Given the description of an element on the screen output the (x, y) to click on. 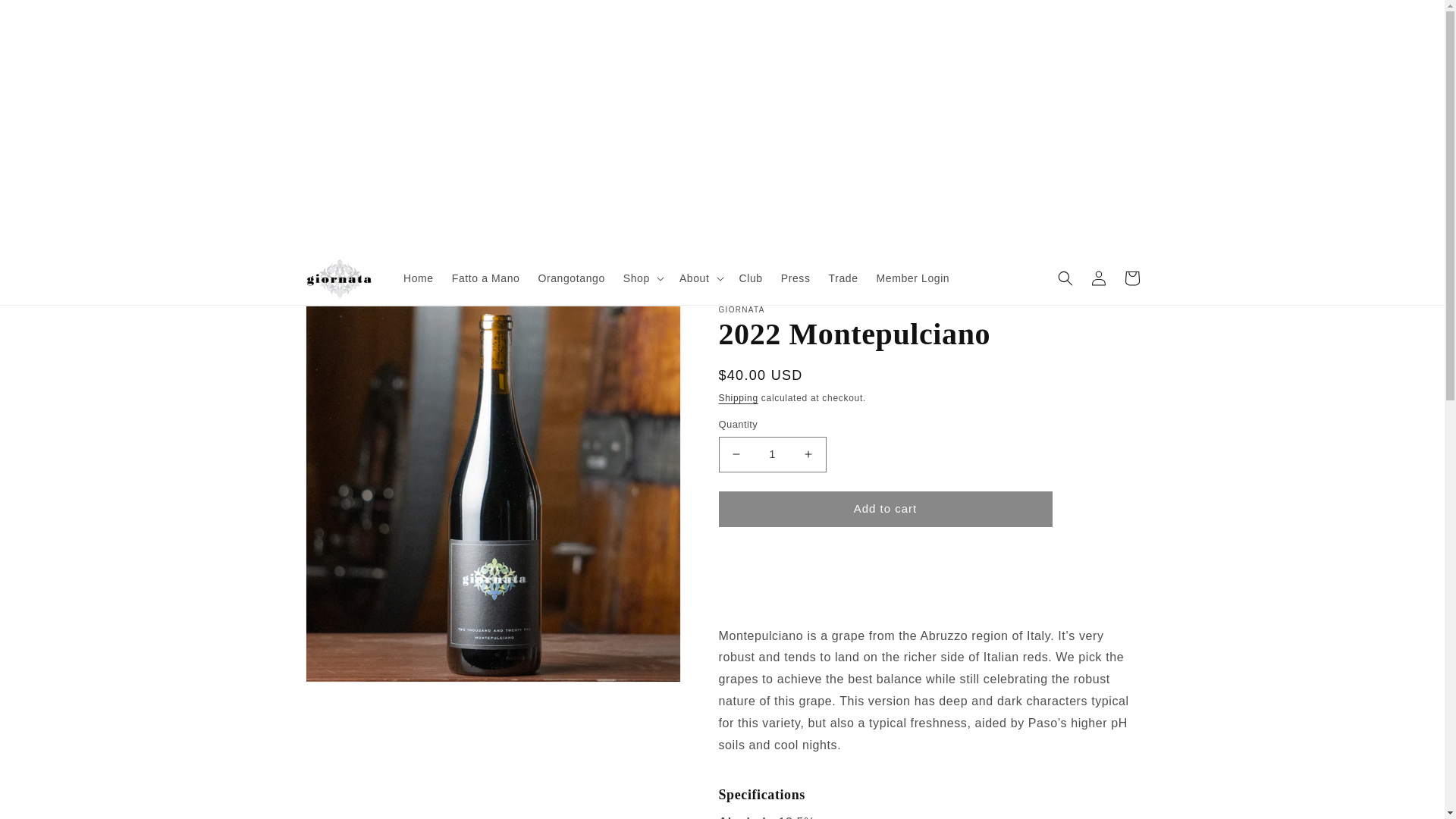
Club (750, 278)
Trade (842, 278)
Log in (1098, 277)
Orangotango (570, 278)
Skip to content (45, 17)
Member Login (913, 278)
Home (418, 278)
1 (773, 454)
Press (795, 278)
Cart (1131, 277)
